Given the description of an element on the screen output the (x, y) to click on. 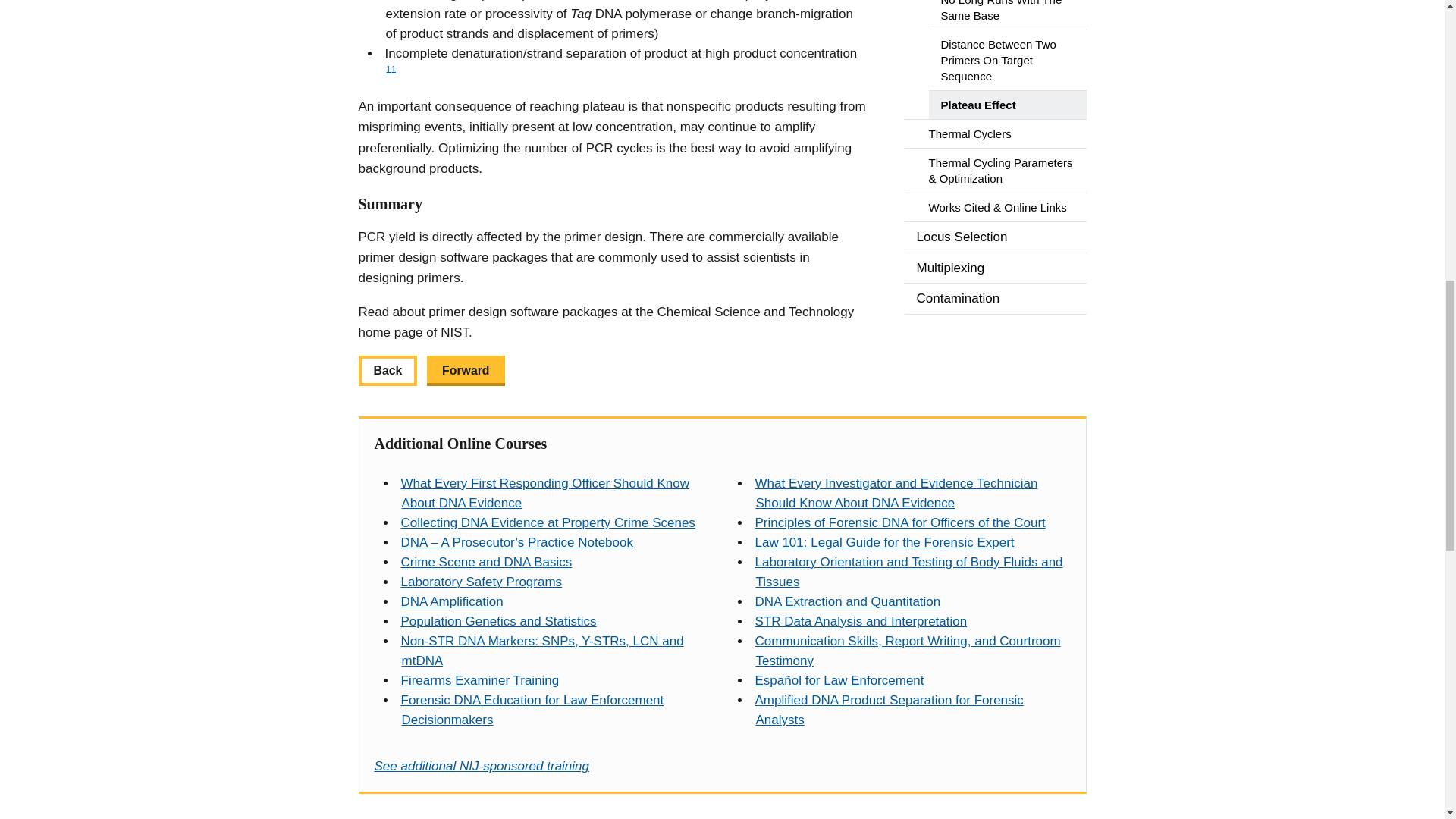
Home (544, 492)
Home (547, 522)
Home (515, 542)
Forward (464, 370)
Back (387, 370)
